Given the description of an element on the screen output the (x, y) to click on. 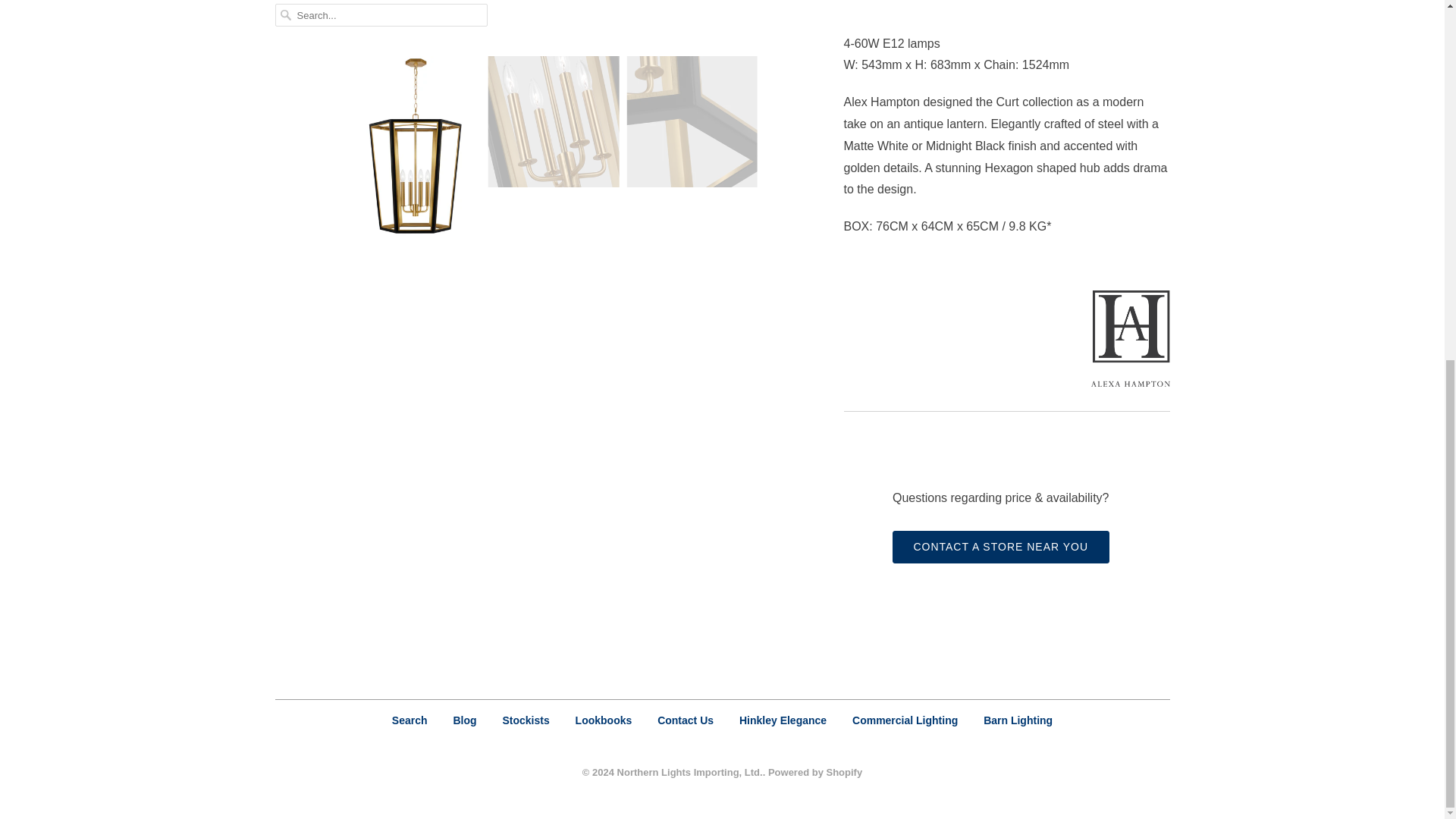
Curt 4L medium pendant - AC1094MBKBBS (552, 20)
